Given the description of an element on the screen output the (x, y) to click on. 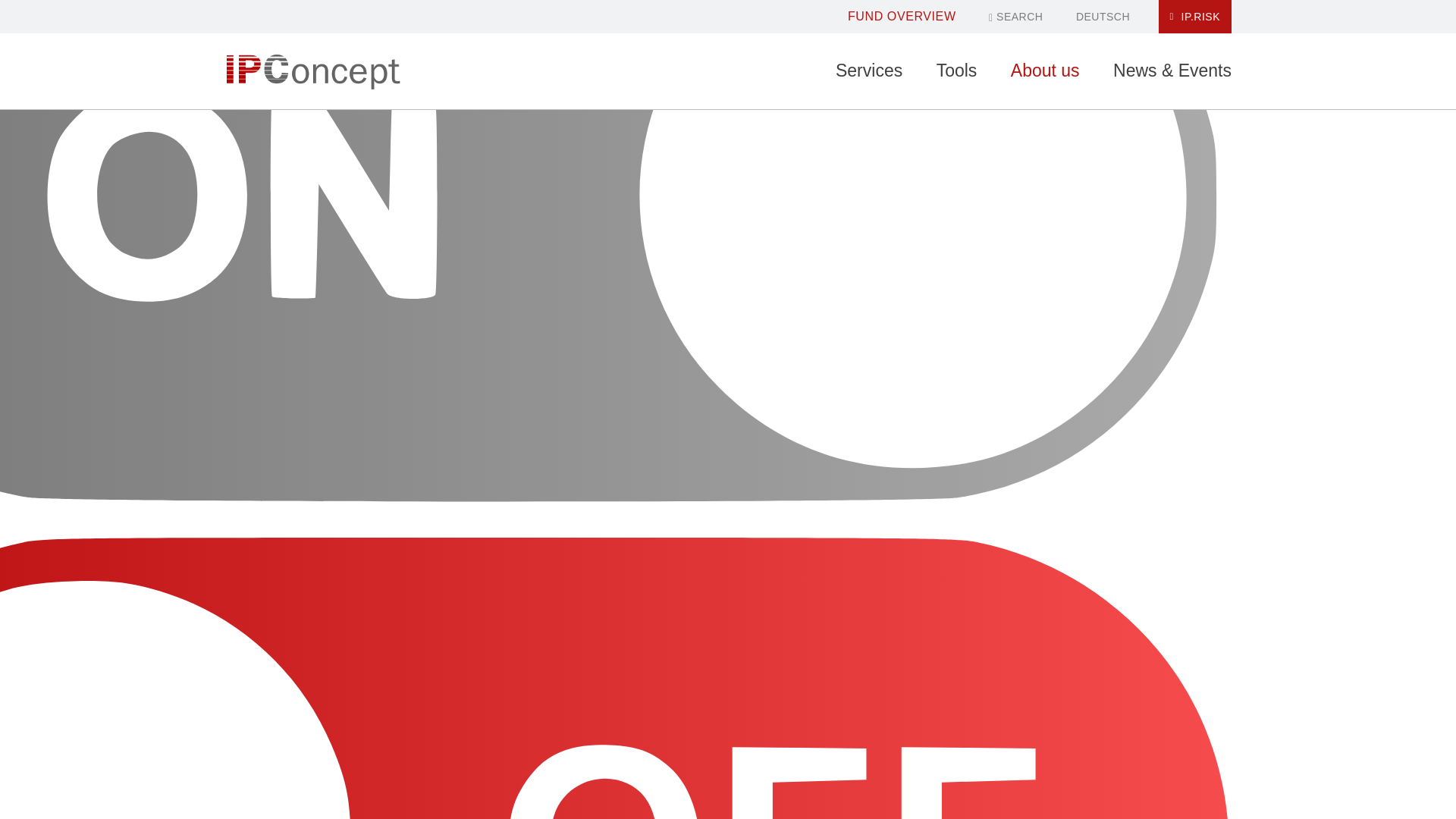
Logo (312, 71)
About us (1045, 70)
Change language (1102, 16)
About us (1045, 70)
IP.RISK (1194, 16)
Fund Overview (901, 15)
DEUTSCH (1102, 16)
Weiterleitung zum Login-Bereich (1194, 16)
FUND OVERVIEW (901, 15)
SEARCH (1015, 17)
